Given the description of an element on the screen output the (x, y) to click on. 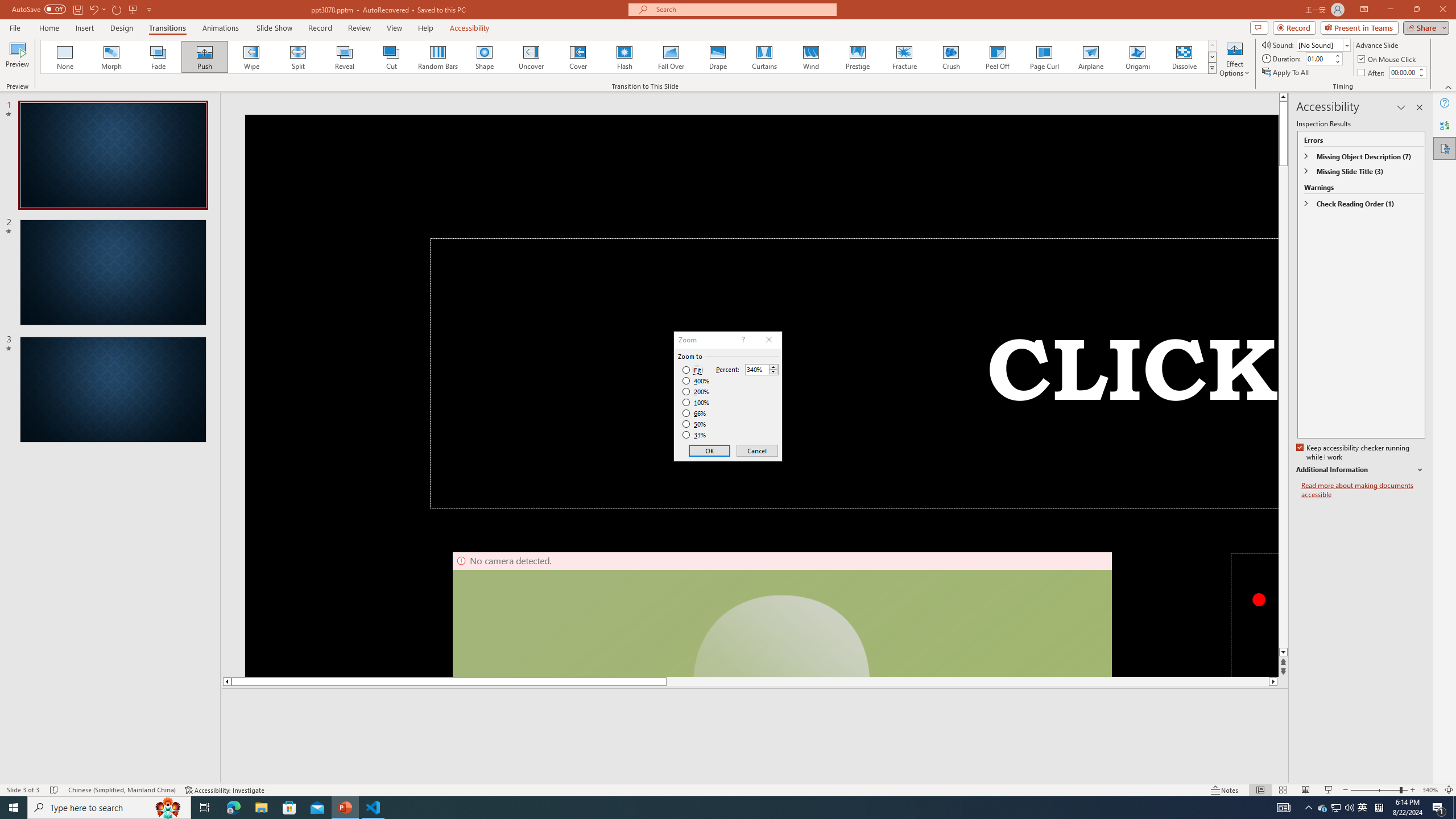
200% (696, 391)
Fit (691, 370)
After (1403, 72)
Duration (1319, 58)
